Given the description of an element on the screen output the (x, y) to click on. 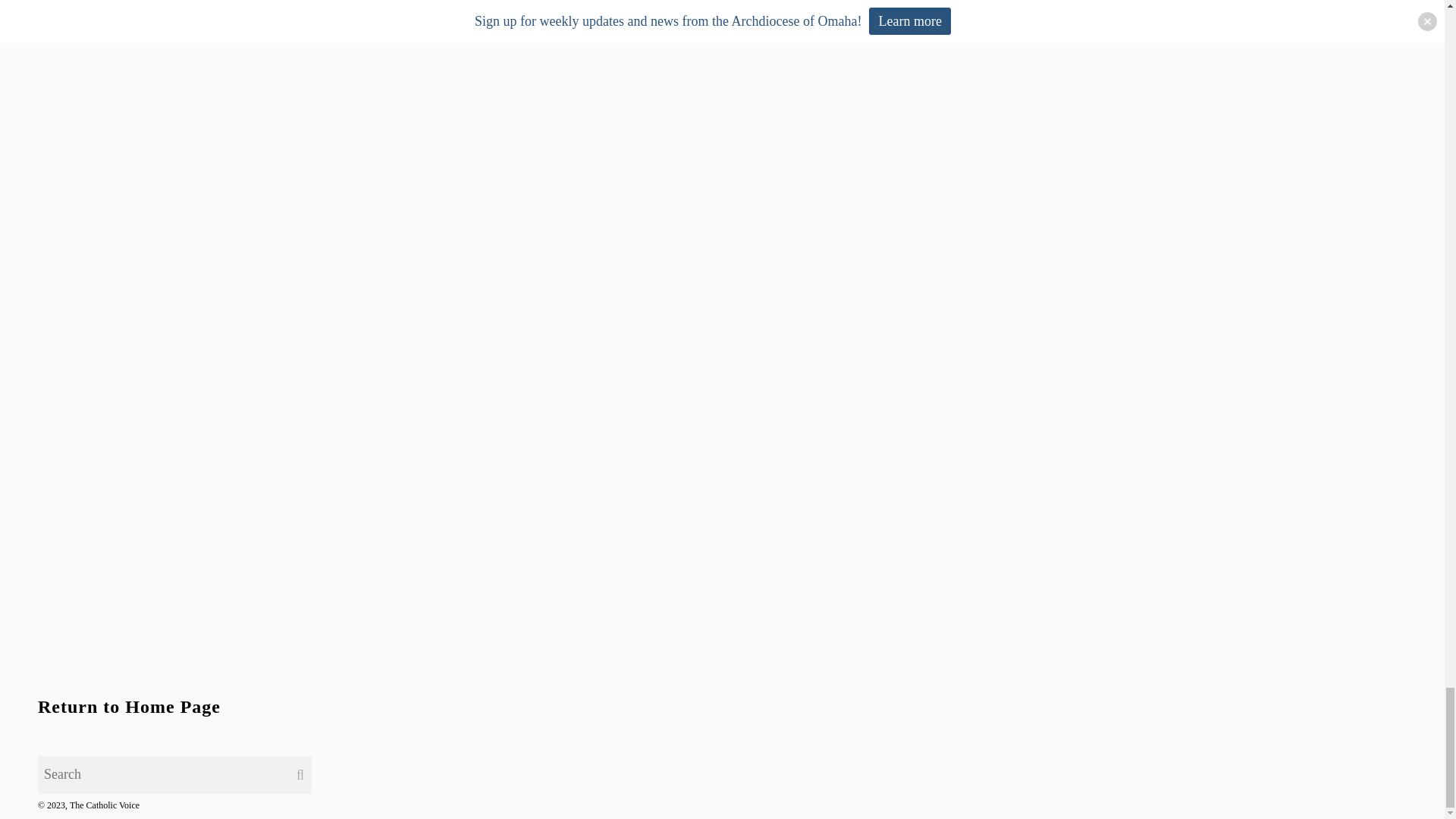
Return to Home Page (129, 706)
